Given the description of an element on the screen output the (x, y) to click on. 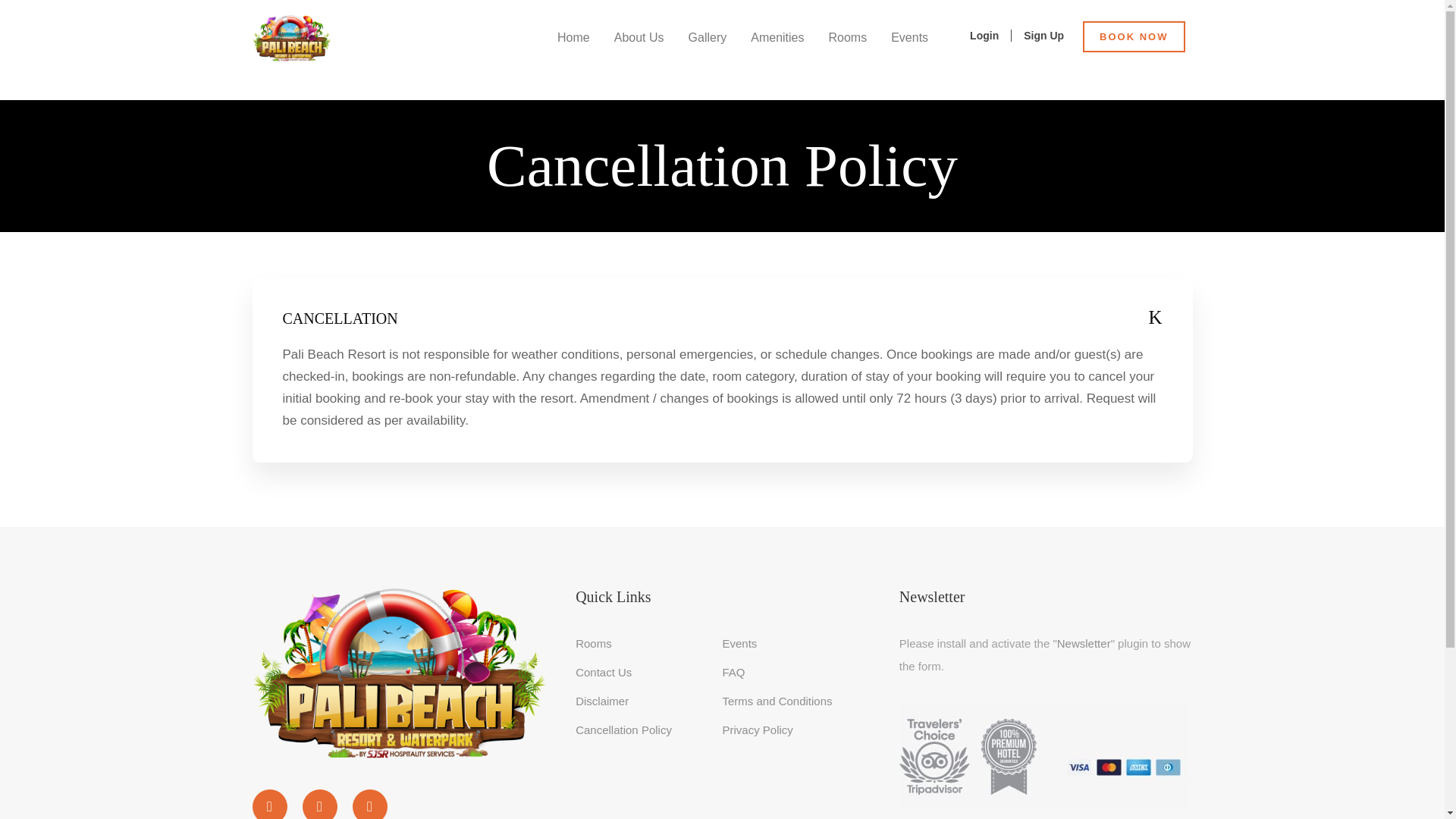
About Us (638, 51)
Gallery (707, 51)
BOOK NOW (1134, 36)
Contact Us (603, 671)
FAQ (733, 671)
Rooms (593, 643)
Rooms (847, 51)
Home (573, 51)
instagram (369, 804)
Events (909, 51)
youtube (318, 804)
PBR LOGO (290, 38)
facebook (268, 804)
Amenities (777, 51)
Events (739, 643)
